Given the description of an element on the screen output the (x, y) to click on. 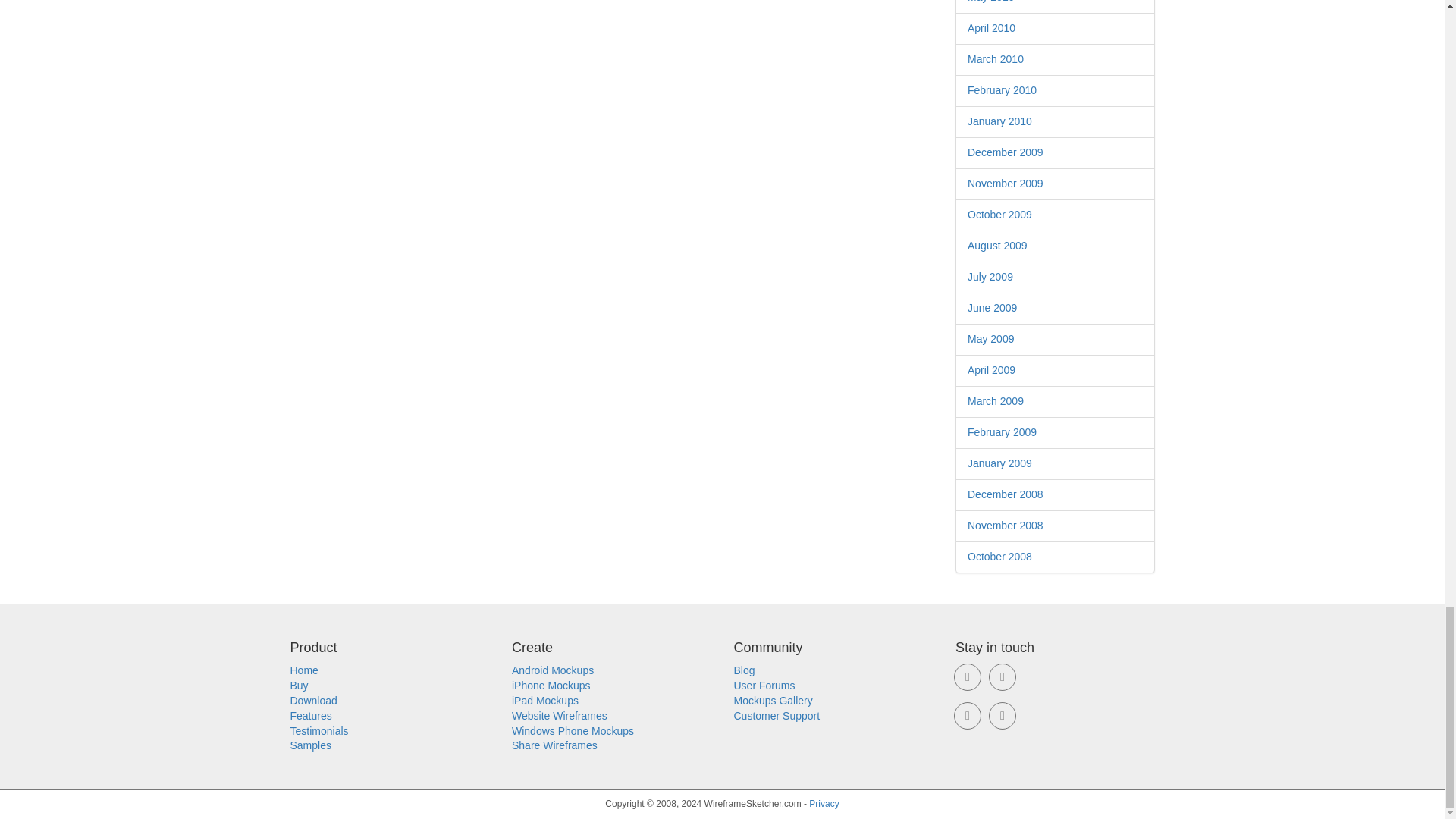
Subcribe to our Blog (1002, 715)
Follow us on X Twitter (967, 715)
Send us an E-mail (967, 677)
Follow our page on Facebook (1002, 677)
